Given the description of an element on the screen output the (x, y) to click on. 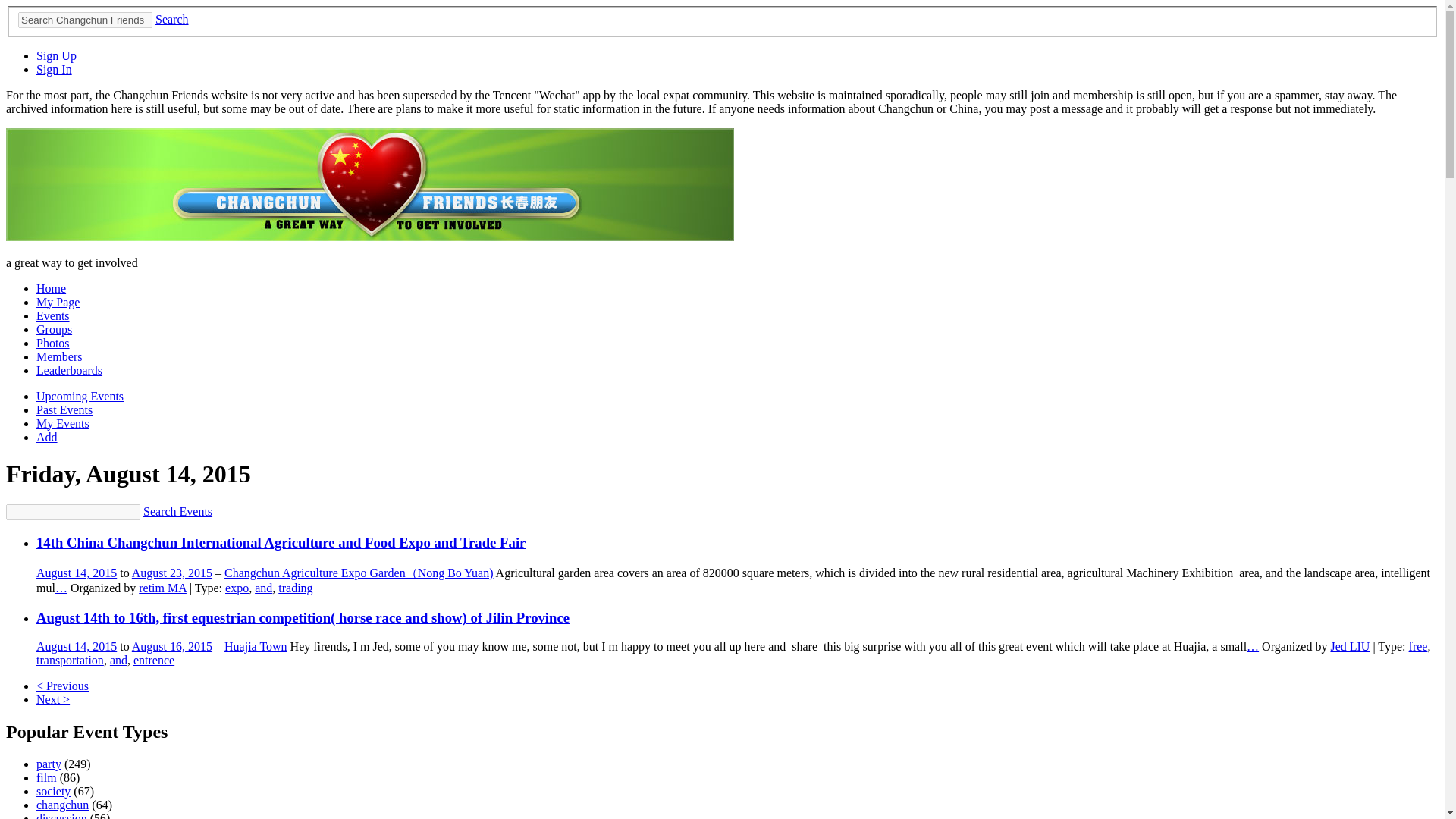
Sign In (53, 69)
Jed LIU (1350, 645)
expo (236, 587)
Search (172, 19)
August 16, 2015 (172, 645)
and (263, 587)
Huajia Town (255, 645)
Search Events (177, 511)
trading (295, 587)
Search Changchun Friends (84, 19)
My Events (62, 422)
Search Events (177, 511)
Photos (52, 342)
My Page (58, 301)
free (1418, 645)
